Given the description of an element on the screen output the (x, y) to click on. 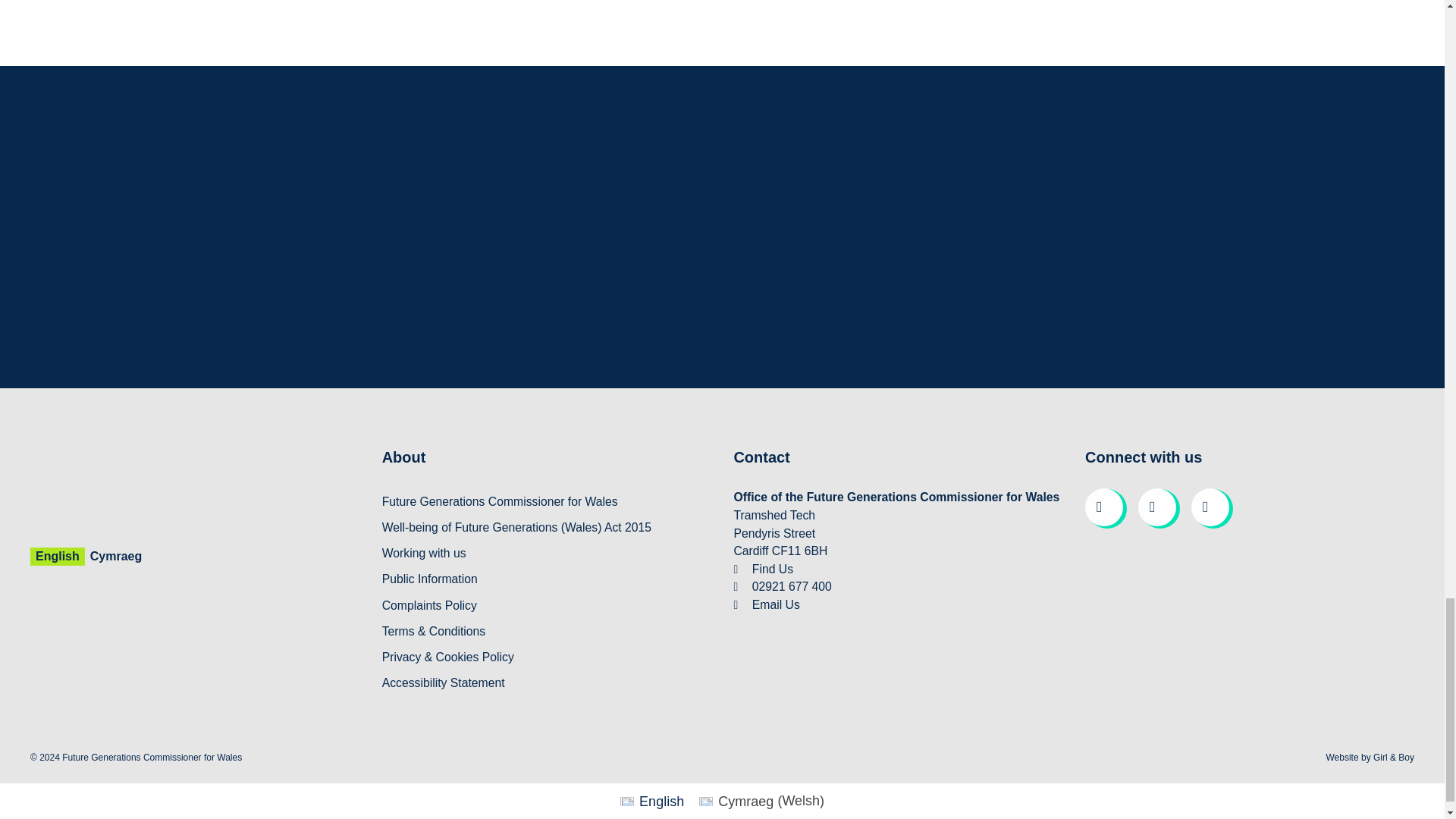
Future Generations Commissioner for Wales (499, 501)
Cymraeg (115, 556)
English (57, 556)
Submit (1243, 329)
Email Us (775, 604)
